Given the description of an element on the screen output the (x, y) to click on. 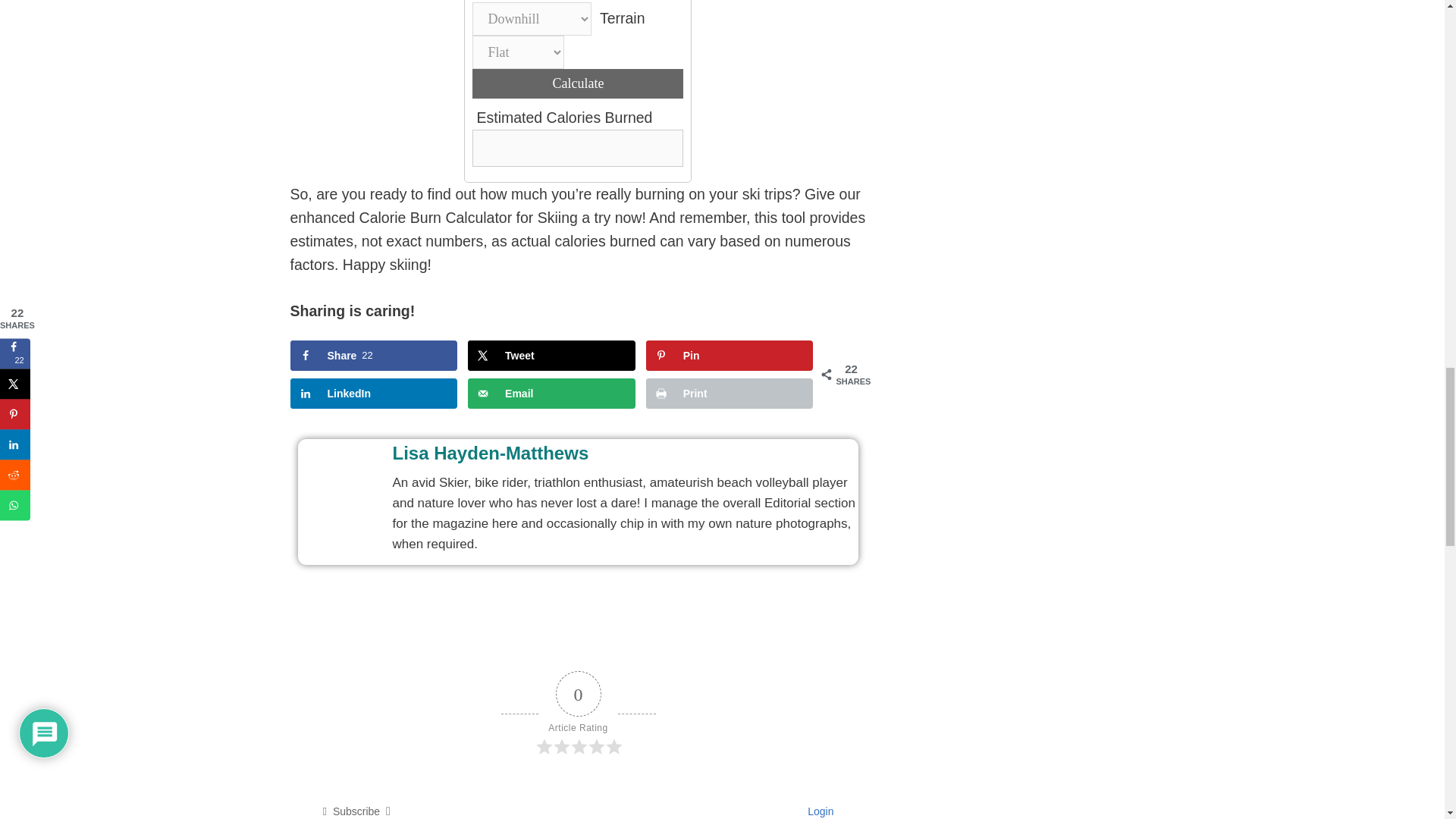
Pin (729, 355)
Save to Pinterest (729, 355)
Login (817, 811)
Print this webpage (729, 393)
Share on LinkedIn (373, 355)
Share on Facebook (373, 393)
Lisa Hayden-Matthews (373, 355)
Email (626, 452)
LinkedIn (550, 393)
Print (373, 393)
Share on X (729, 393)
Send over email (550, 355)
Tweet (550, 393)
Calculate (550, 355)
